Given the description of an element on the screen output the (x, y) to click on. 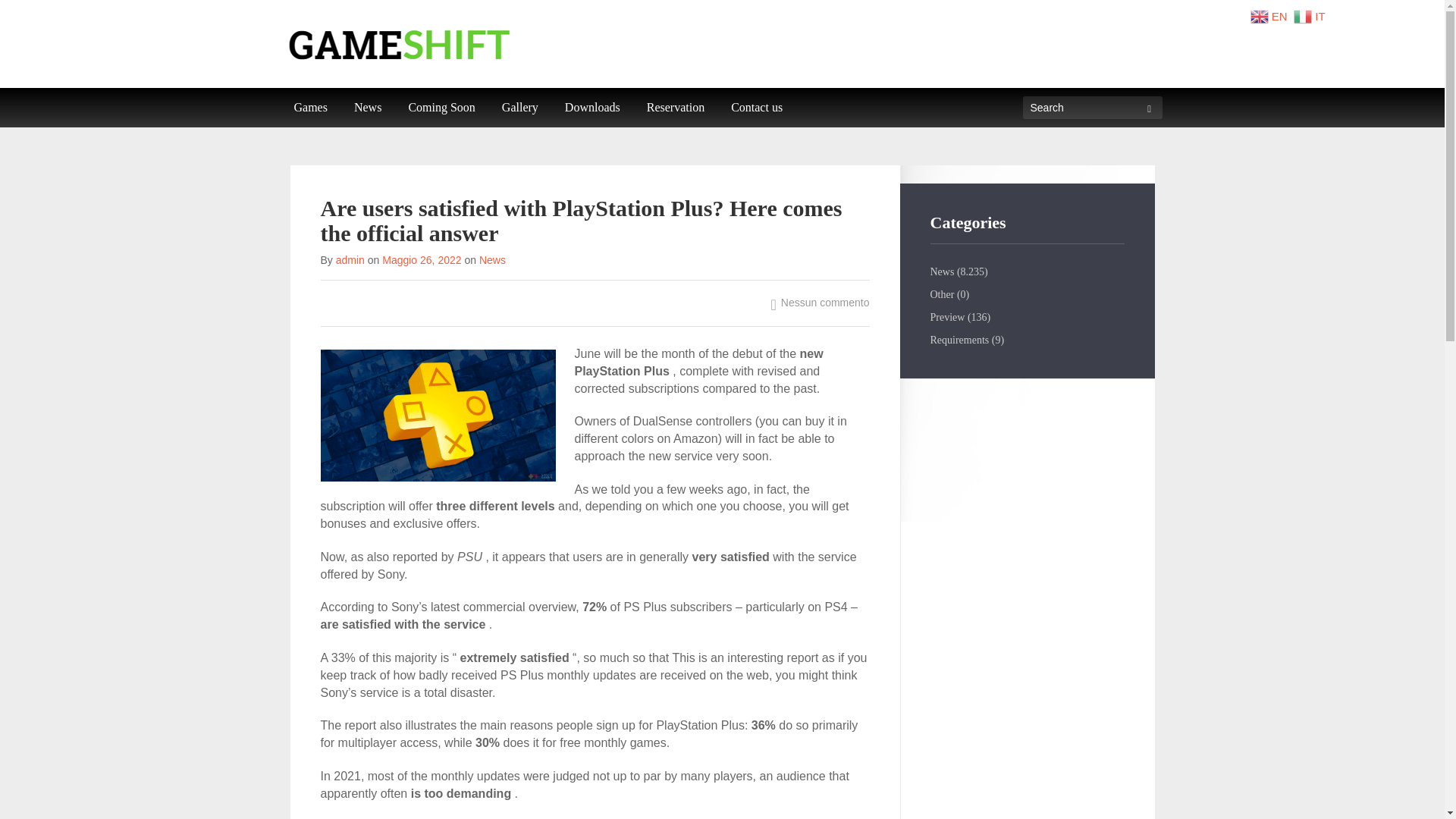
News (367, 107)
Gallery (520, 107)
admin (350, 259)
News (492, 259)
Articoli scritti da: admin (350, 259)
Italian (1310, 15)
Other (941, 294)
Contact us (756, 107)
English (1270, 15)
Videogame News (367, 107)
Downloads (592, 107)
Preview (946, 317)
Games (309, 107)
Nessun commento (820, 301)
News (941, 271)
